Given the description of an element on the screen output the (x, y) to click on. 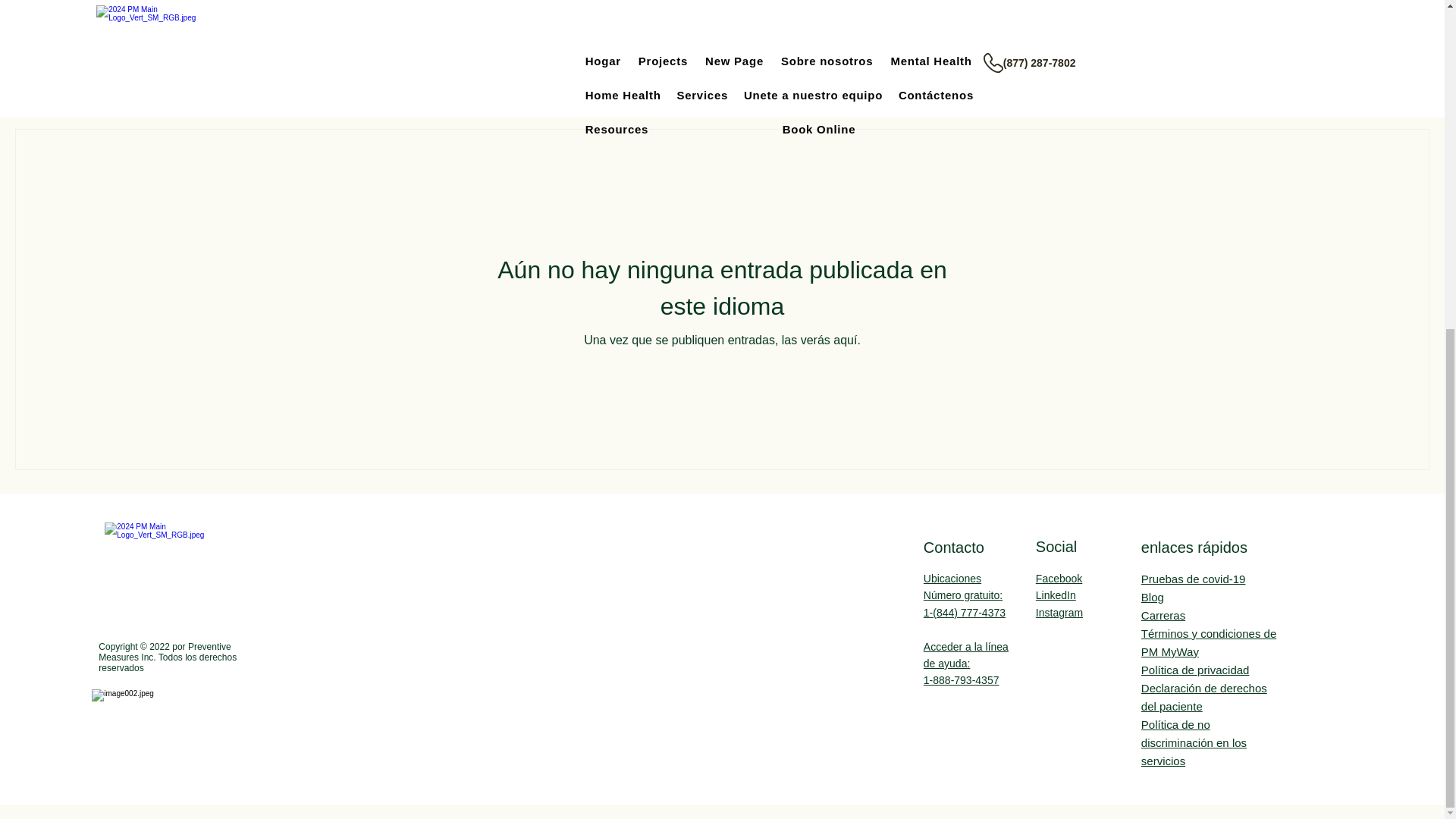
Ubicaciones (952, 578)
Blog (1152, 596)
Instagram (1059, 612)
Carreras (1163, 615)
Pruebas de covid-19 (1193, 578)
Facebook (1058, 578)
1-888-793-4357 (960, 680)
LinkedIn (1055, 594)
